Given the description of an element on the screen output the (x, y) to click on. 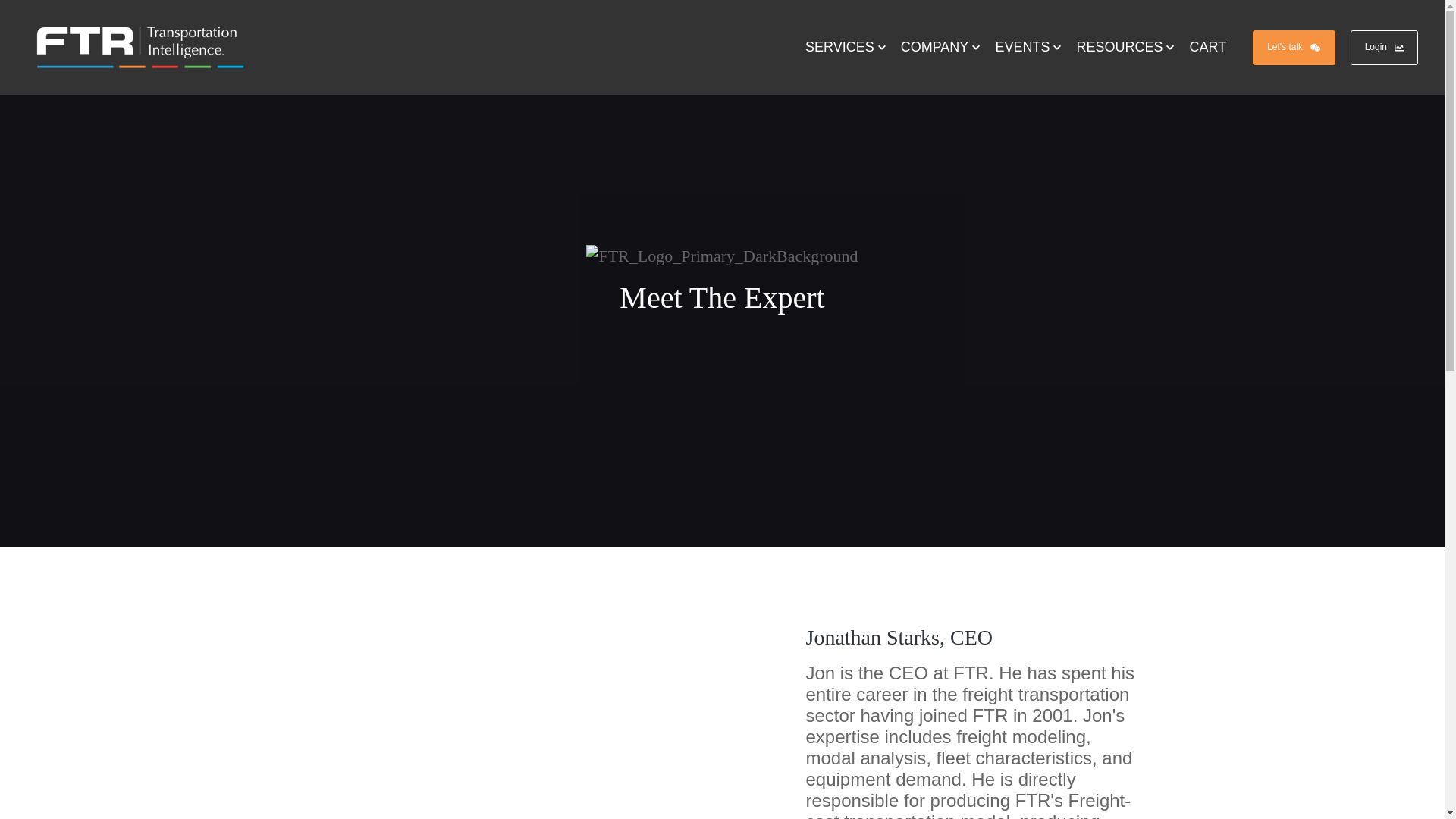
COMPANY (940, 46)
SERVICES (845, 46)
EVENTS (1027, 46)
RESOURCES (1124, 46)
